Given the description of an element on the screen output the (x, y) to click on. 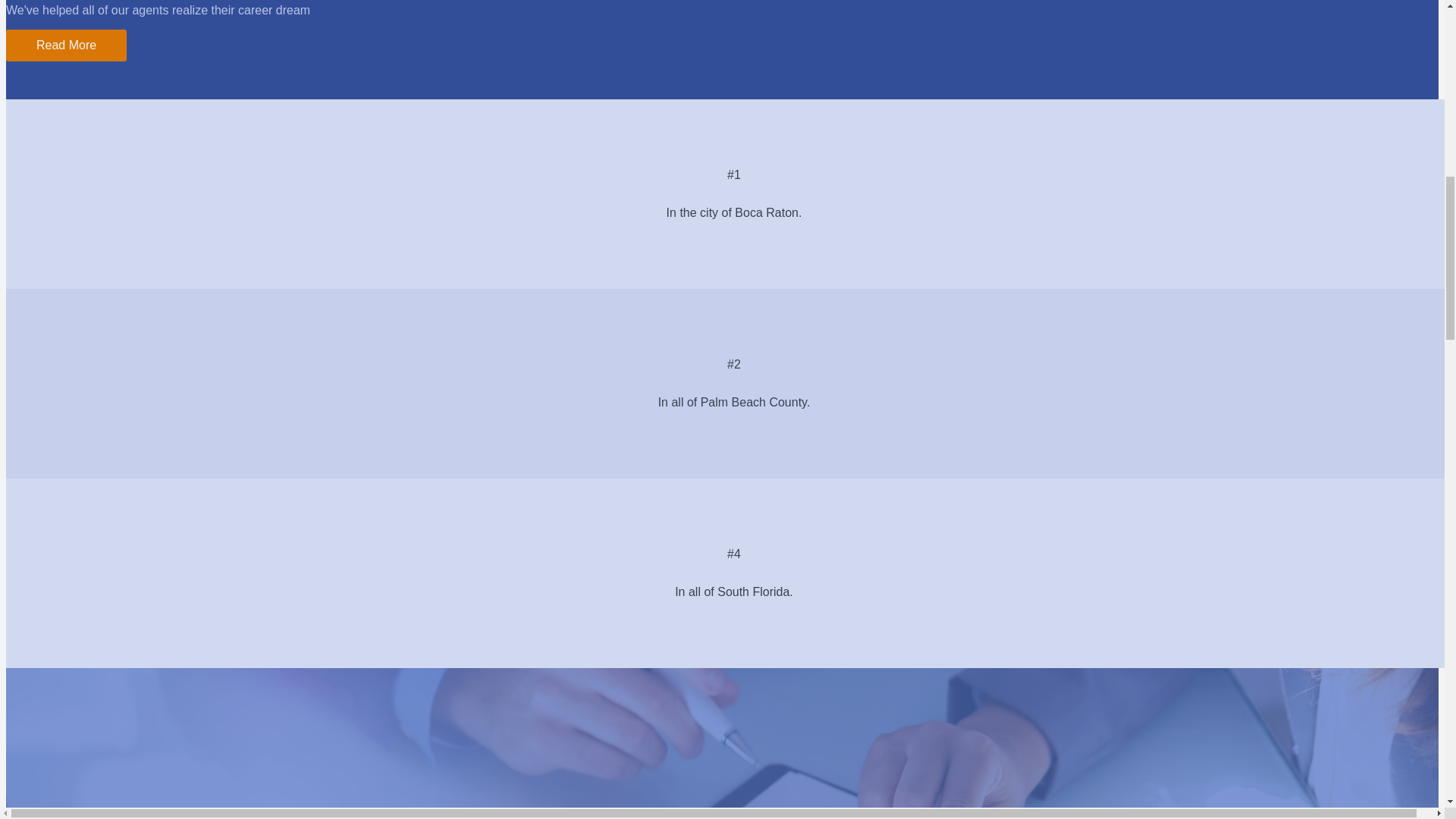
Read More (65, 45)
